Given the description of an element on the screen output the (x, y) to click on. 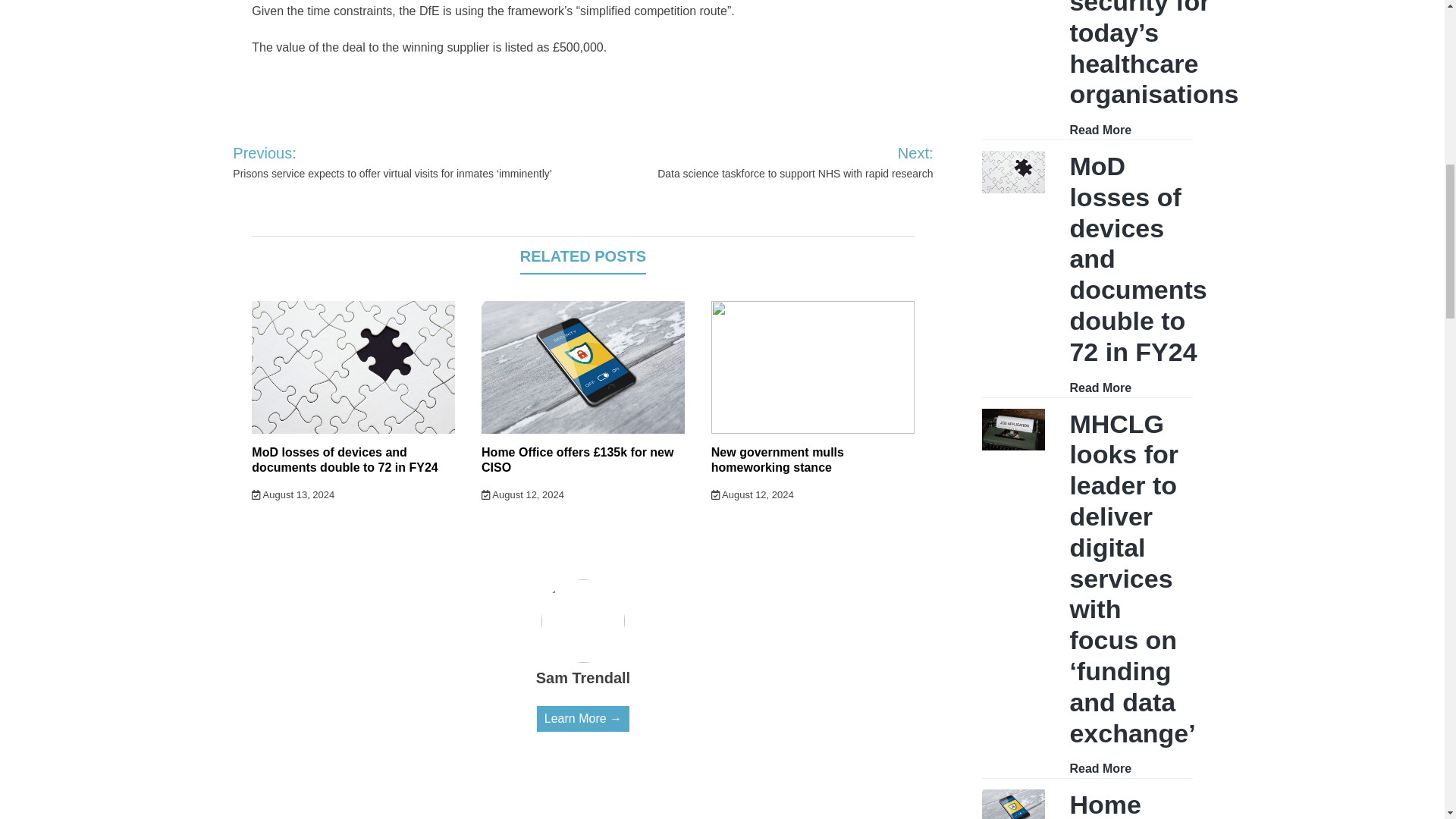
MoD losses of devices and documents double to 72 in FY24 (344, 460)
August 13, 2024 (292, 494)
